Given the description of an element on the screen output the (x, y) to click on. 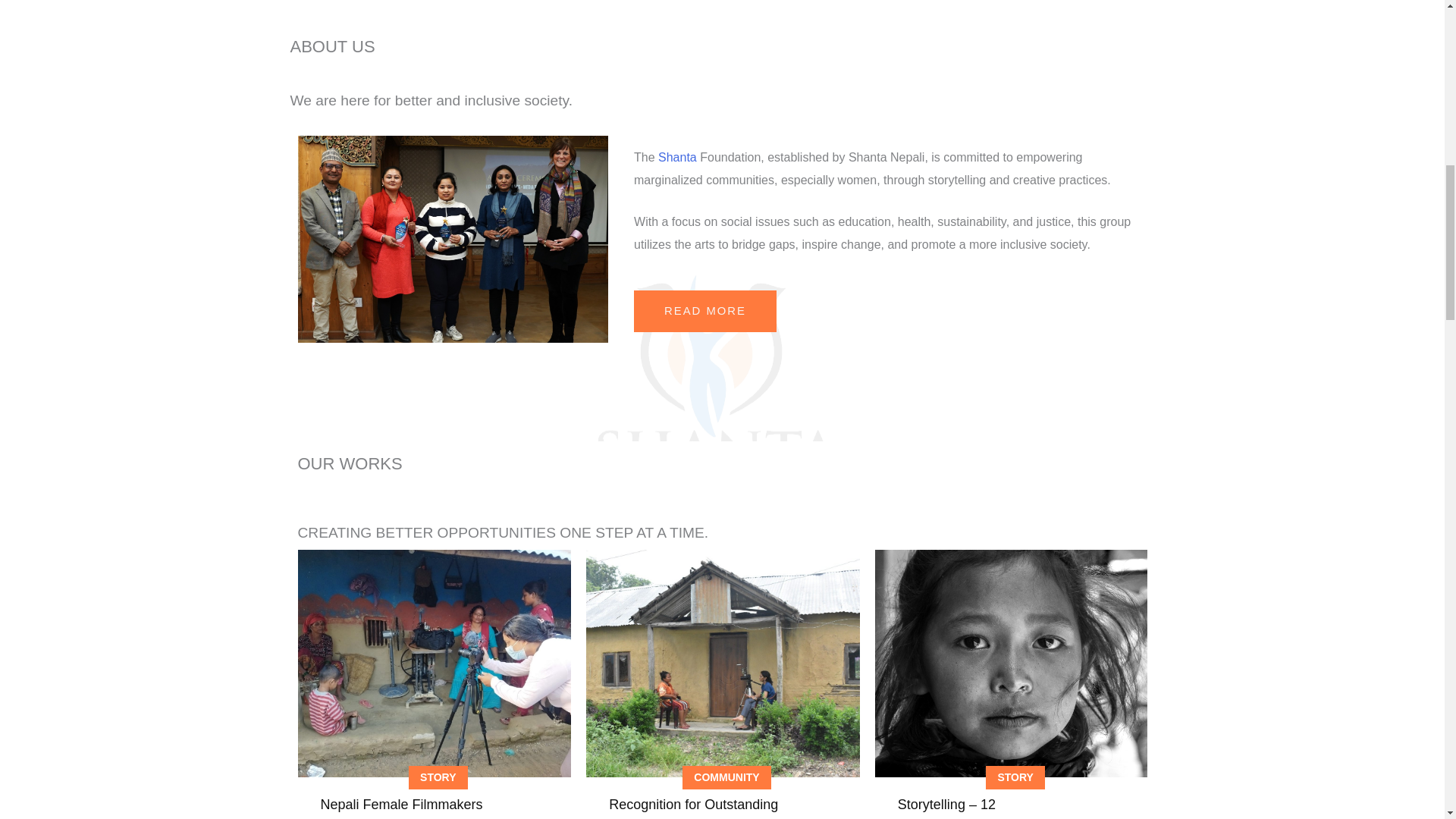
STORY (438, 777)
Shanta (677, 156)
READ MORE (704, 311)
COMMUNITY (726, 777)
Nepali Female Filmmakers (400, 804)
Nepali Female Filmmakers (400, 804)
Nepali Female Filmmakers (433, 663)
STORY (1014, 777)
